Given the description of an element on the screen output the (x, y) to click on. 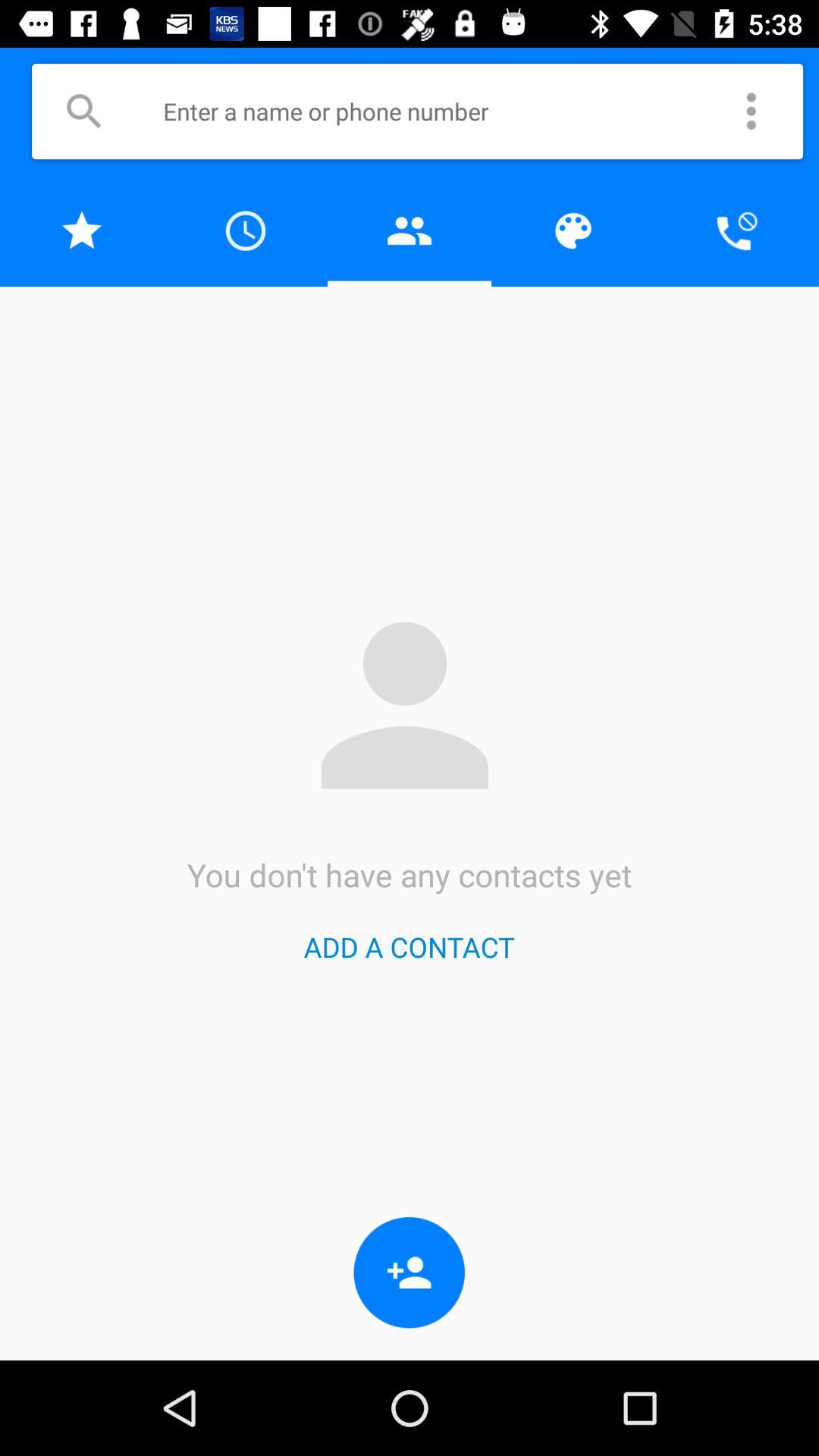
navigate to call history (245, 230)
